Given the description of an element on the screen output the (x, y) to click on. 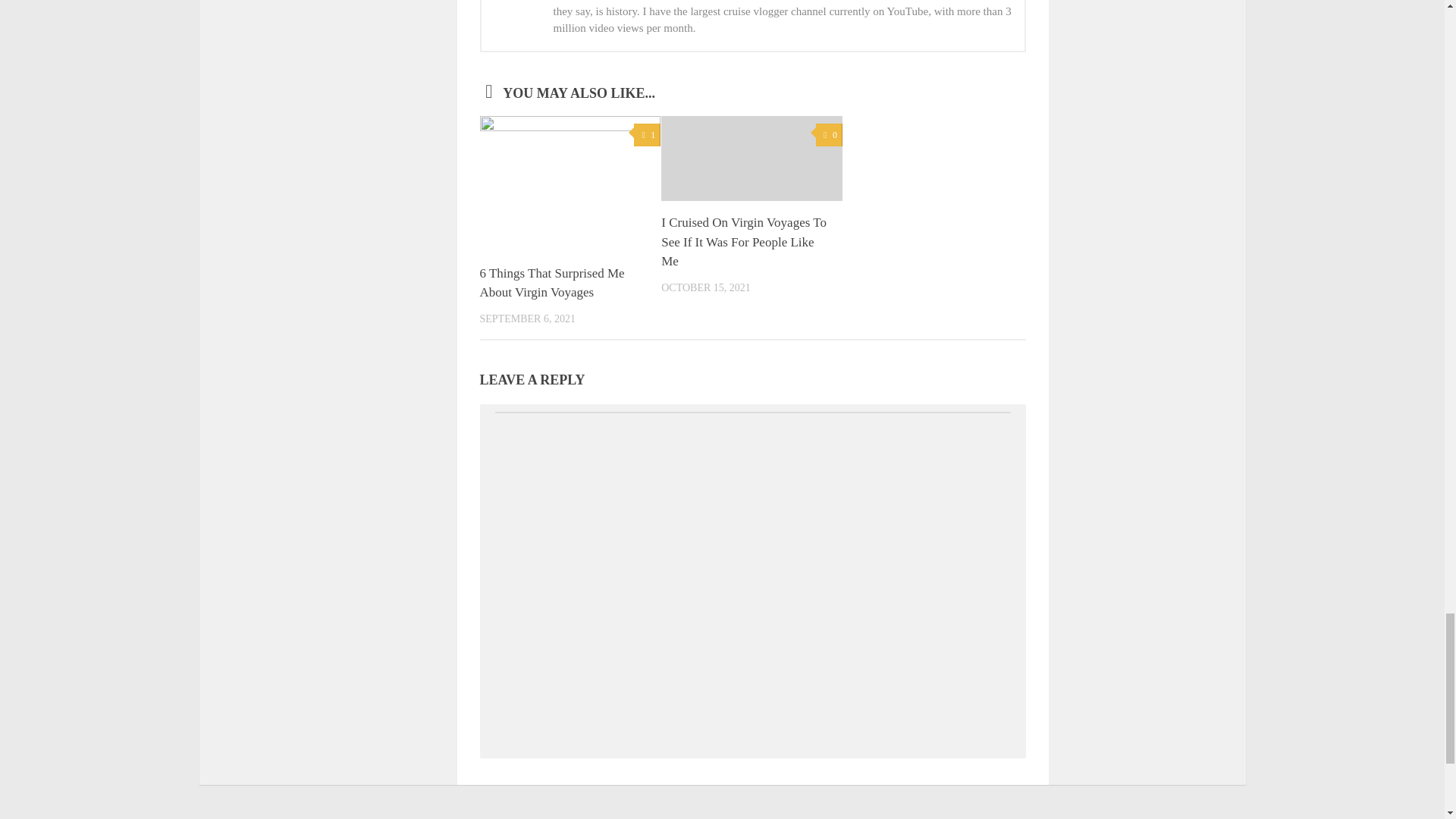
1 (647, 135)
6 Things That Surprised Me About Virgin Voyages (551, 283)
